Given the description of an element on the screen output the (x, y) to click on. 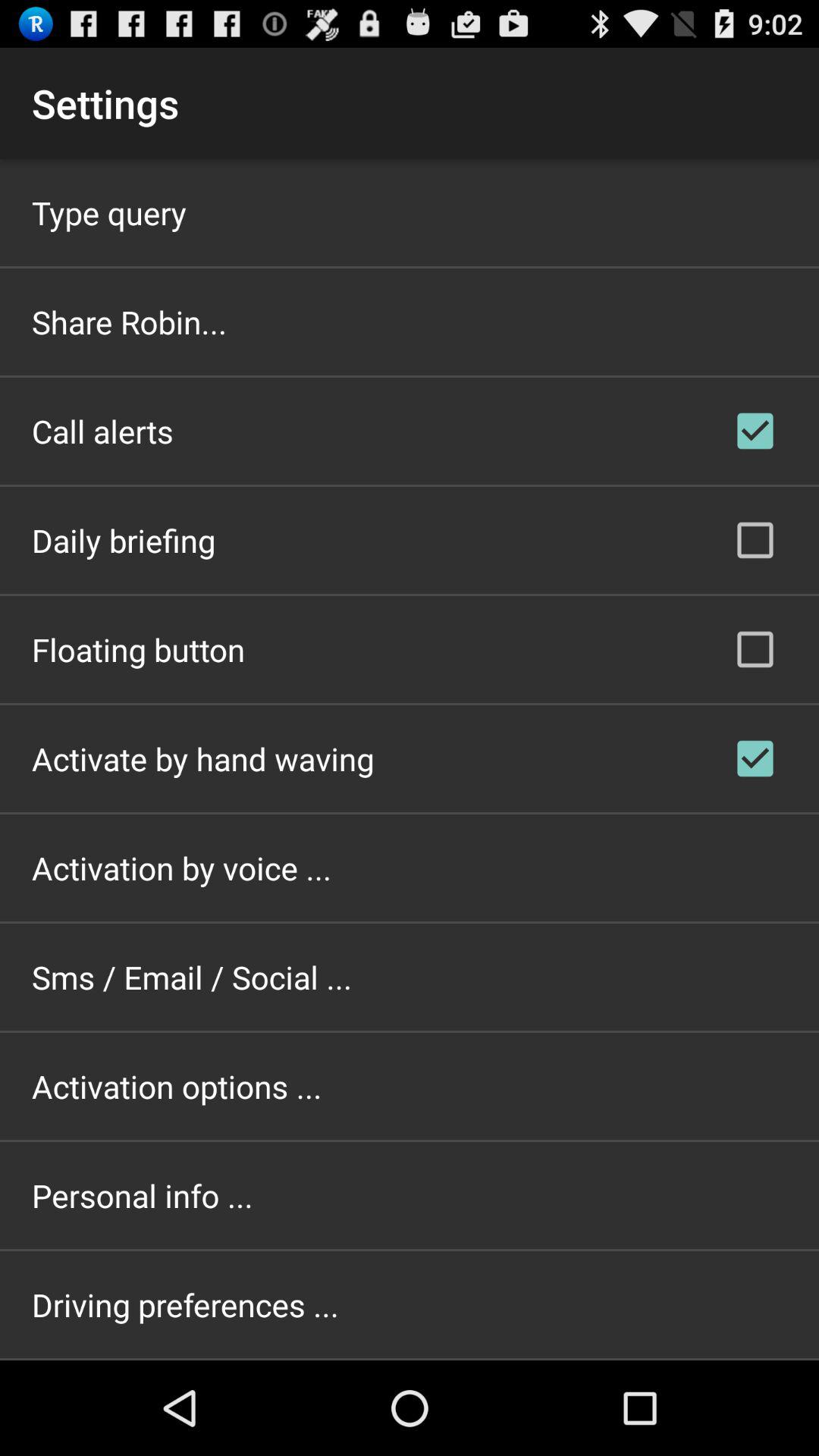
choose the app above share robin... item (108, 212)
